Given the description of an element on the screen output the (x, y) to click on. 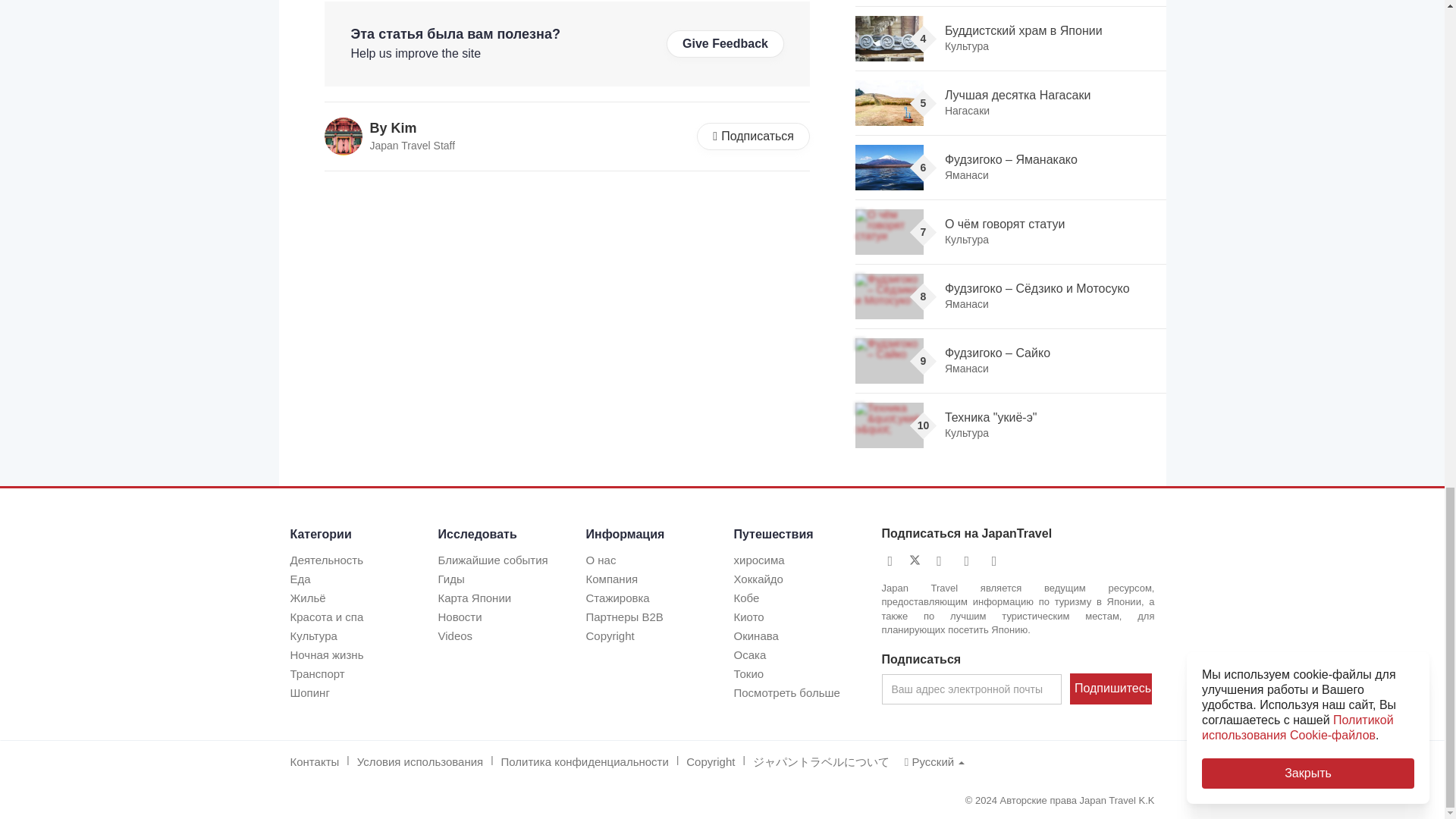
Kim (343, 136)
